Given the description of an element on the screen output the (x, y) to click on. 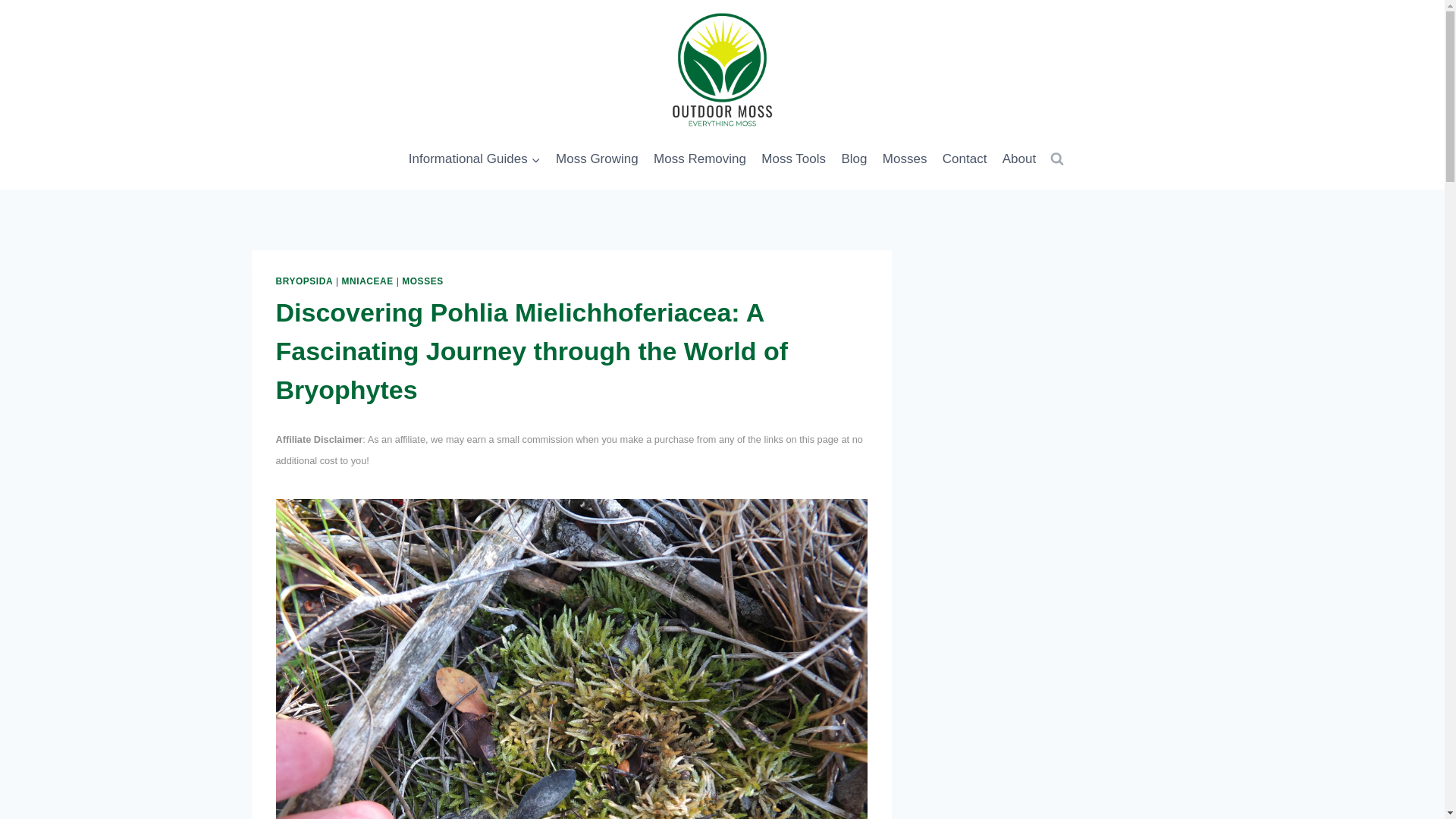
Contact (964, 158)
Moss Tools (793, 158)
Moss Growing (597, 158)
MNIACEAE (367, 281)
MOSSES (421, 281)
About (1018, 158)
Moss Removing (700, 158)
Blog (853, 158)
Informational Guides (474, 158)
BRYOPSIDA (304, 281)
Mosses (904, 158)
